Given the description of an element on the screen output the (x, y) to click on. 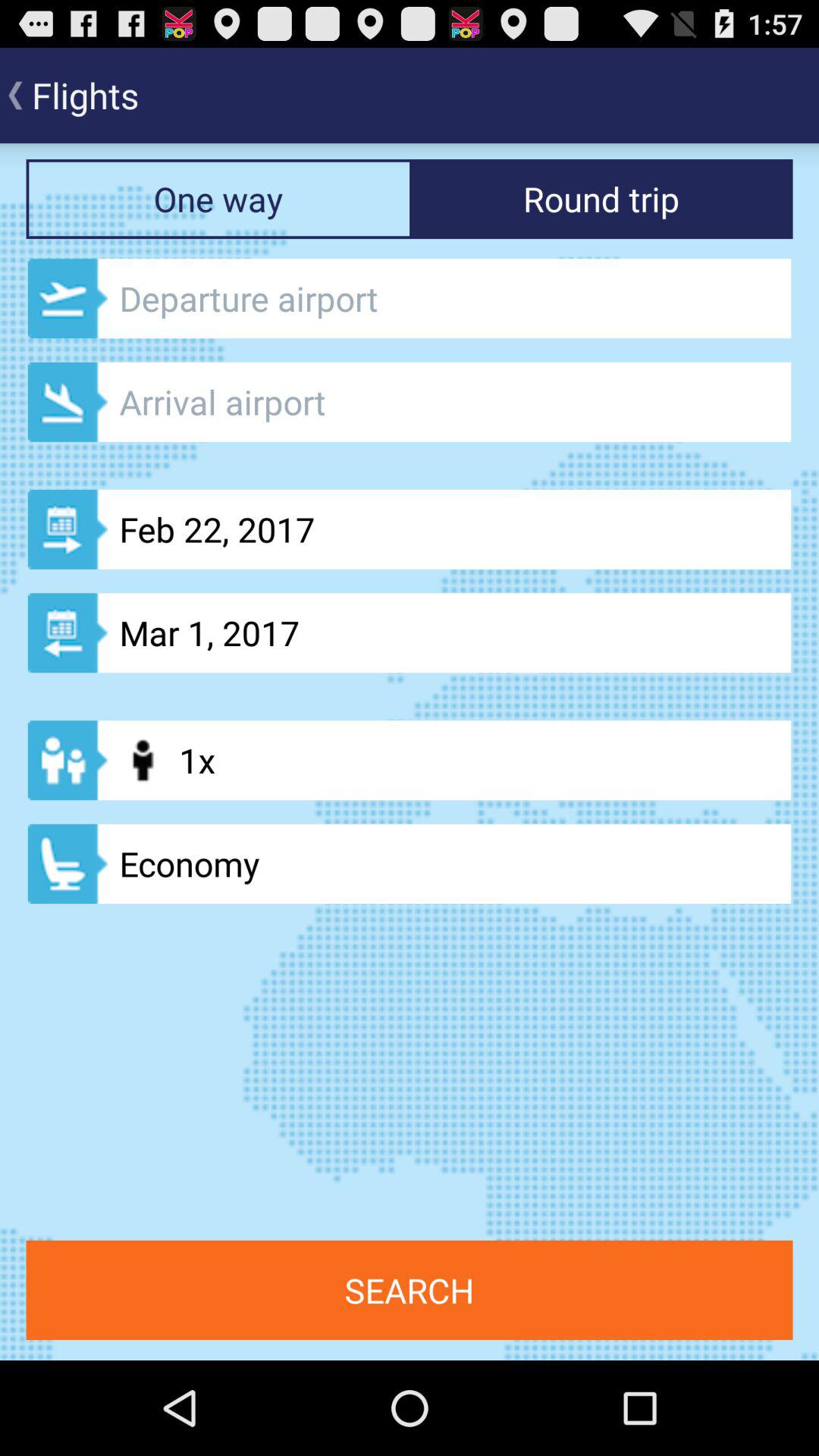
arrival time given (409, 401)
